Given the description of an element on the screen output the (x, y) to click on. 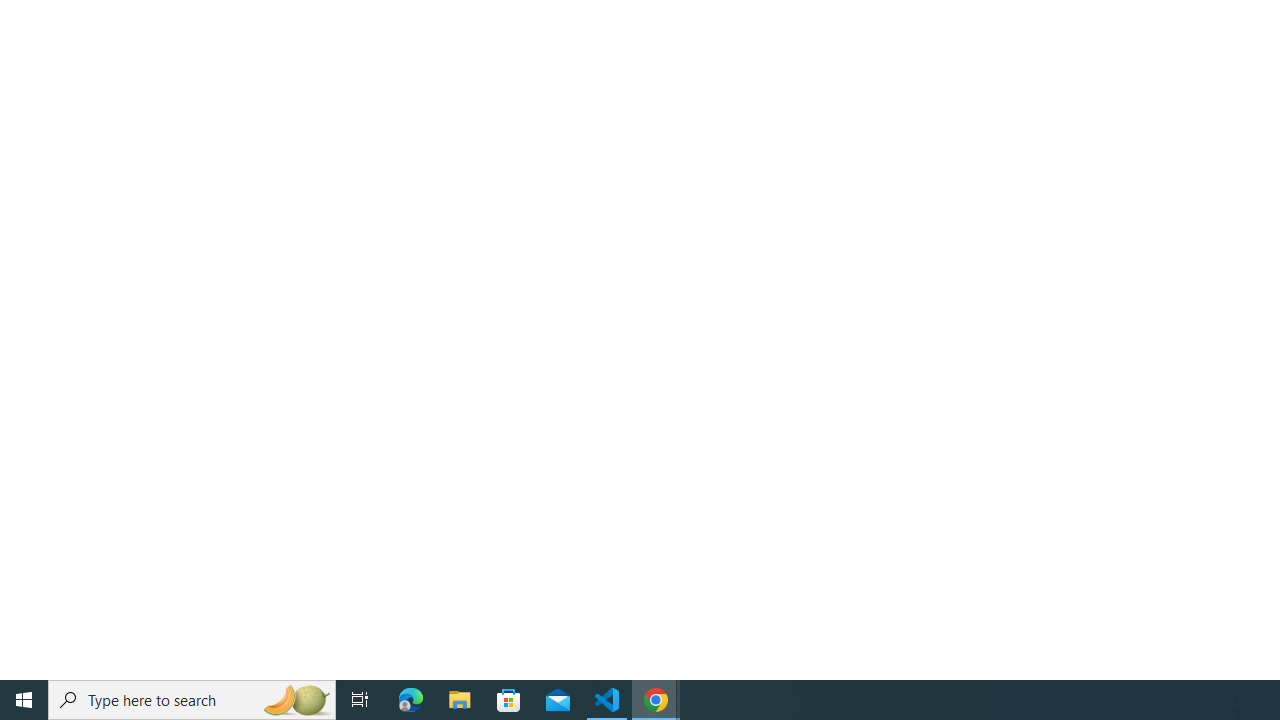
Start (24, 699)
Microsoft Store (509, 699)
Type here to search (191, 699)
Task View (359, 699)
File Explorer (460, 699)
Google Chrome - 2 running windows (656, 699)
Microsoft Edge (411, 699)
Search highlights icon opens search home window (295, 699)
Visual Studio Code - 1 running window (607, 699)
